Given the description of an element on the screen output the (x, y) to click on. 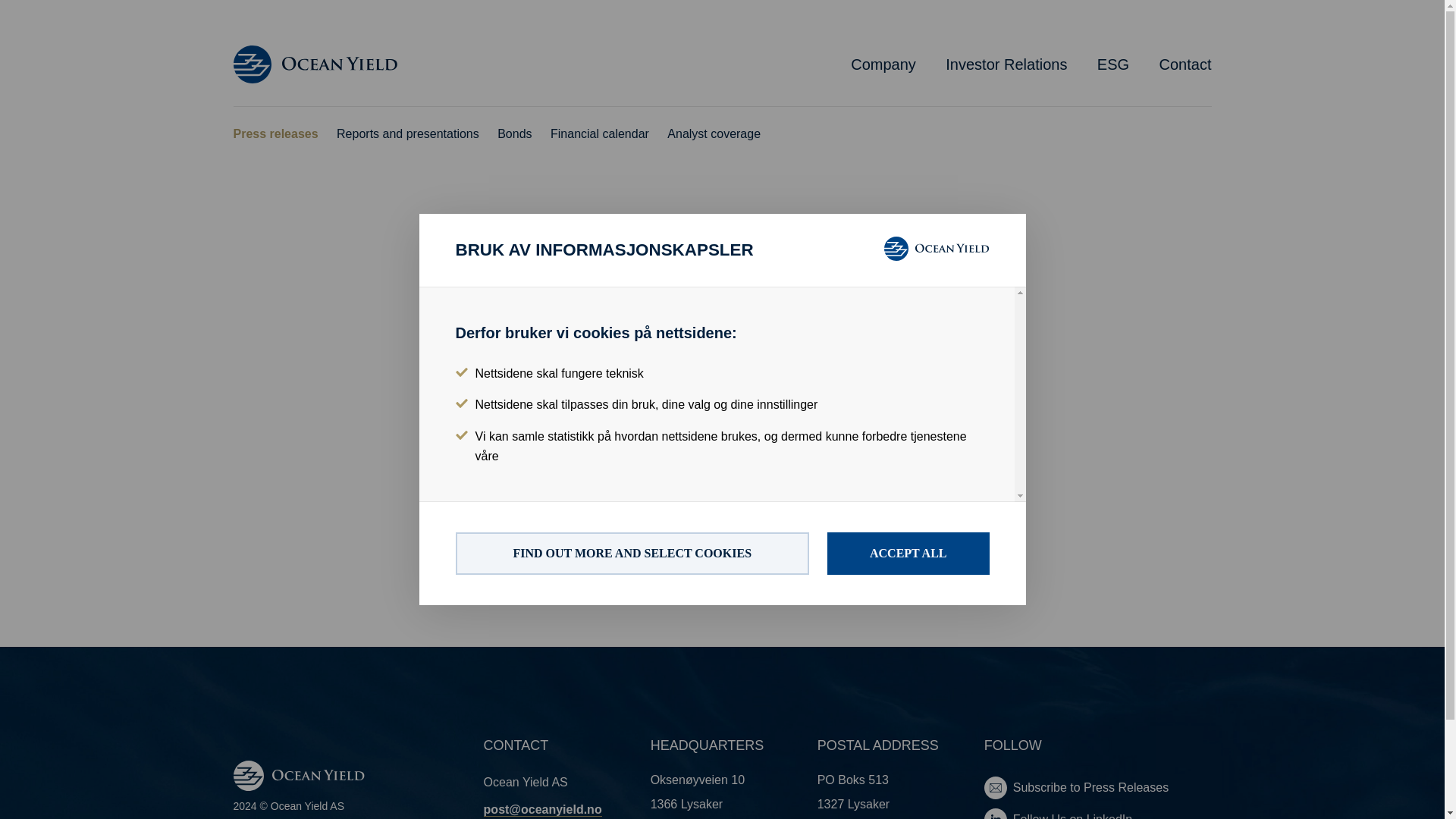
FIND OUT MORE AND SELECT COOKIES (631, 553)
Subscribe to Press Releases (1097, 787)
Investor Relations (1005, 64)
Financial calendar (599, 134)
Company (882, 64)
ACCEPT ALL (908, 553)
Navigate to the frontpage (314, 64)
Reports and presentations (407, 134)
ESG (1113, 64)
Follow Us on LinkedIn (1097, 813)
Press releases (275, 134)
Analyst coverage (713, 134)
Bonds (514, 134)
Contact (1184, 64)
